Given the description of an element on the screen output the (x, y) to click on. 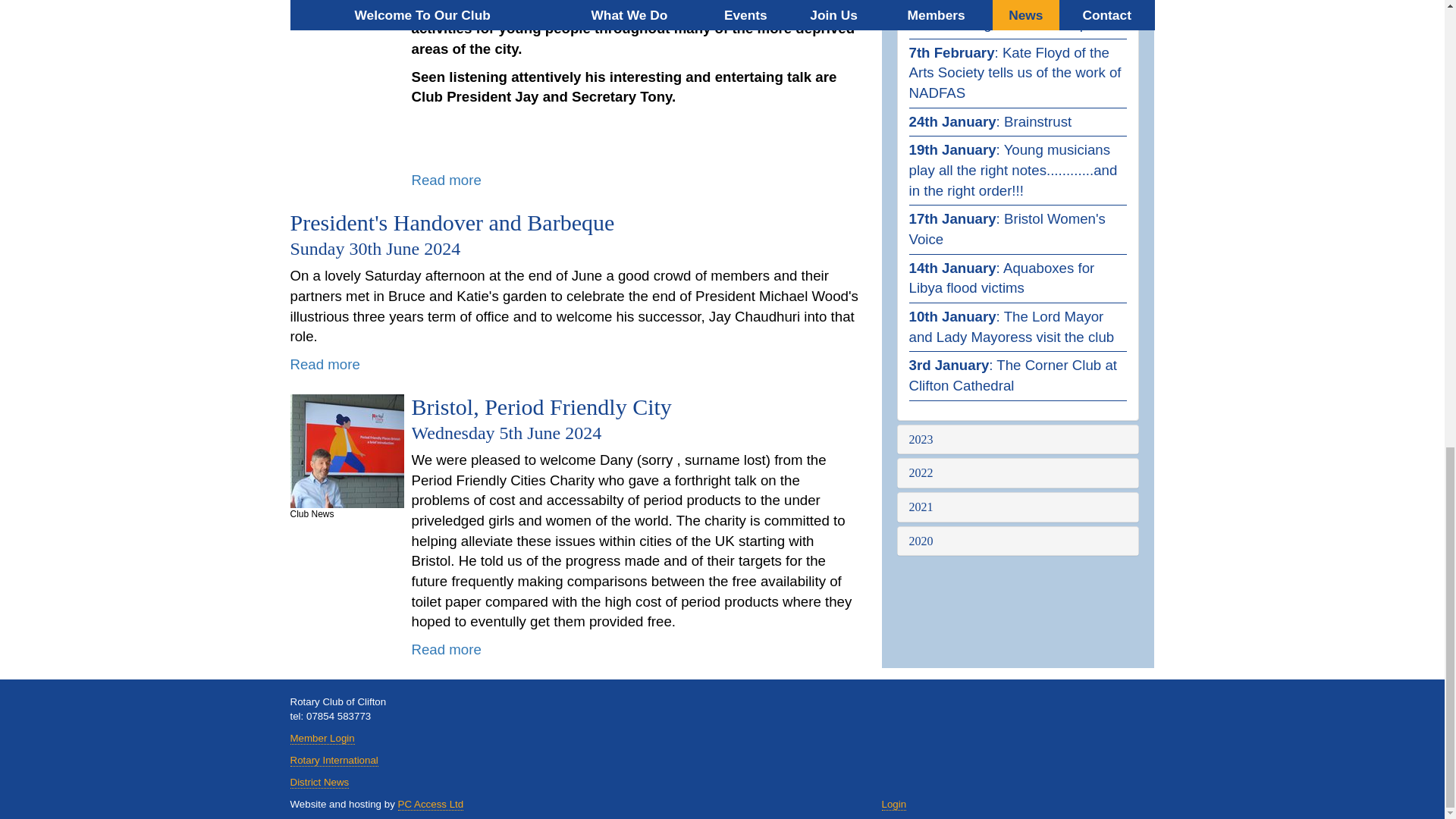
3rd January: The Corner Club at Clifton Cathedral (1012, 375)
Read more (324, 364)
17th January: Bristol Women's Voice (1006, 228)
14th January: Aquaboxes for Libya flood victims (1001, 278)
Read more (445, 649)
24th January: Brainstrust (989, 121)
17th April: EthiopiAid, Transforming Lives in Ethiopia (1002, 15)
Read more (445, 179)
